Given the description of an element on the screen output the (x, y) to click on. 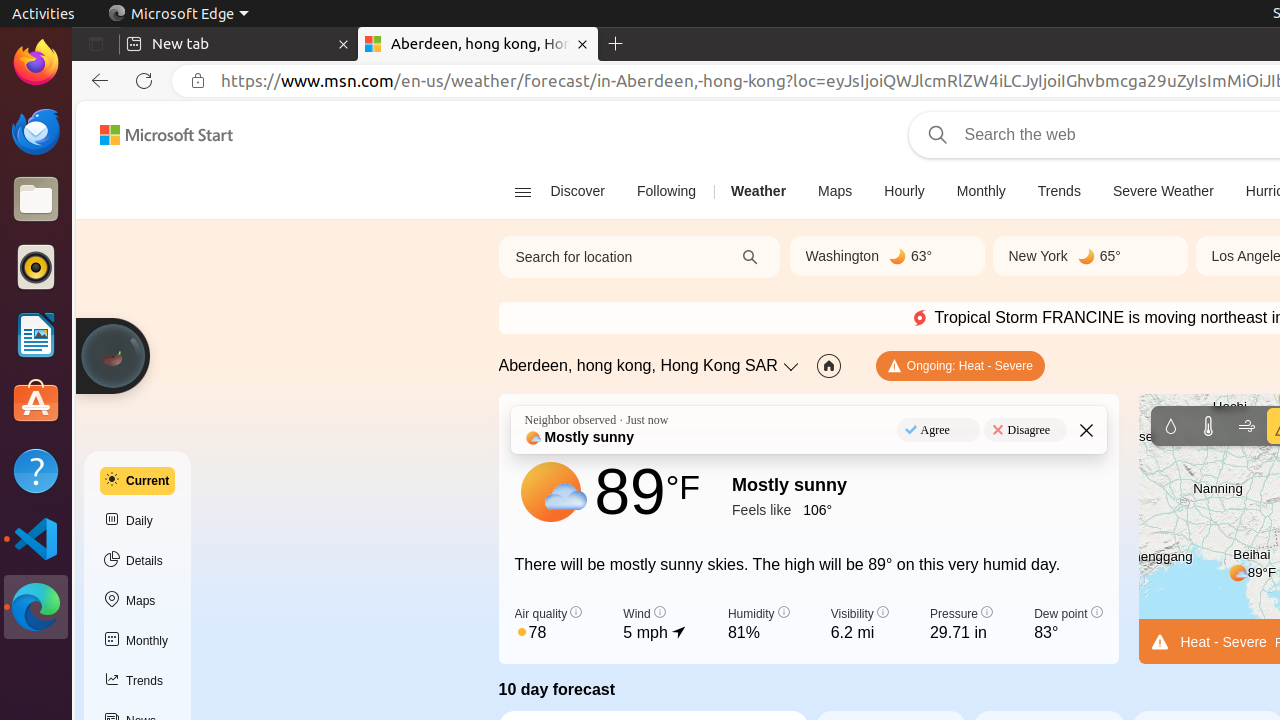
Washington Clear 63° Element type: push-button (887, 256)
Maps Element type: push-button (138, 601)
Current Element type: push-button (138, 481)
Refresh Element type: push-button (144, 81)
Dew point 83° Element type: link (1068, 625)
